Given the description of an element on the screen output the (x, y) to click on. 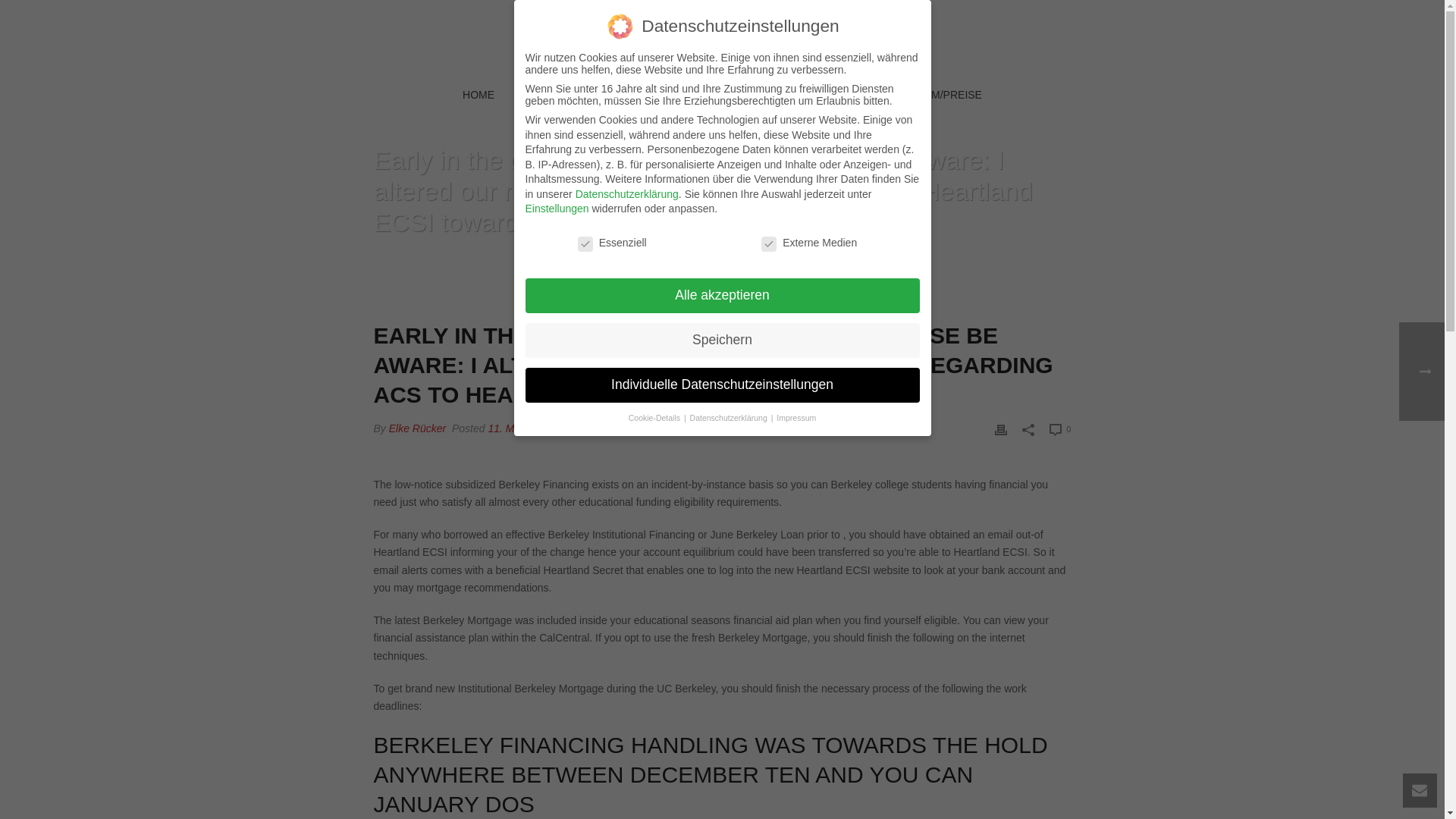
HOME (478, 96)
HOME (379, 260)
AUSSTATTUNG (799, 96)
AUSSENANLAGEN (674, 96)
REITHALLE (560, 96)
AUSSENANLAGEN (674, 96)
paydayloans (603, 428)
0 (1059, 429)
HOME (478, 96)
Hirtenhof (721, 38)
REITHALLE (560, 96)
AUSSTATTUNG (799, 96)
